Given the description of an element on the screen output the (x, y) to click on. 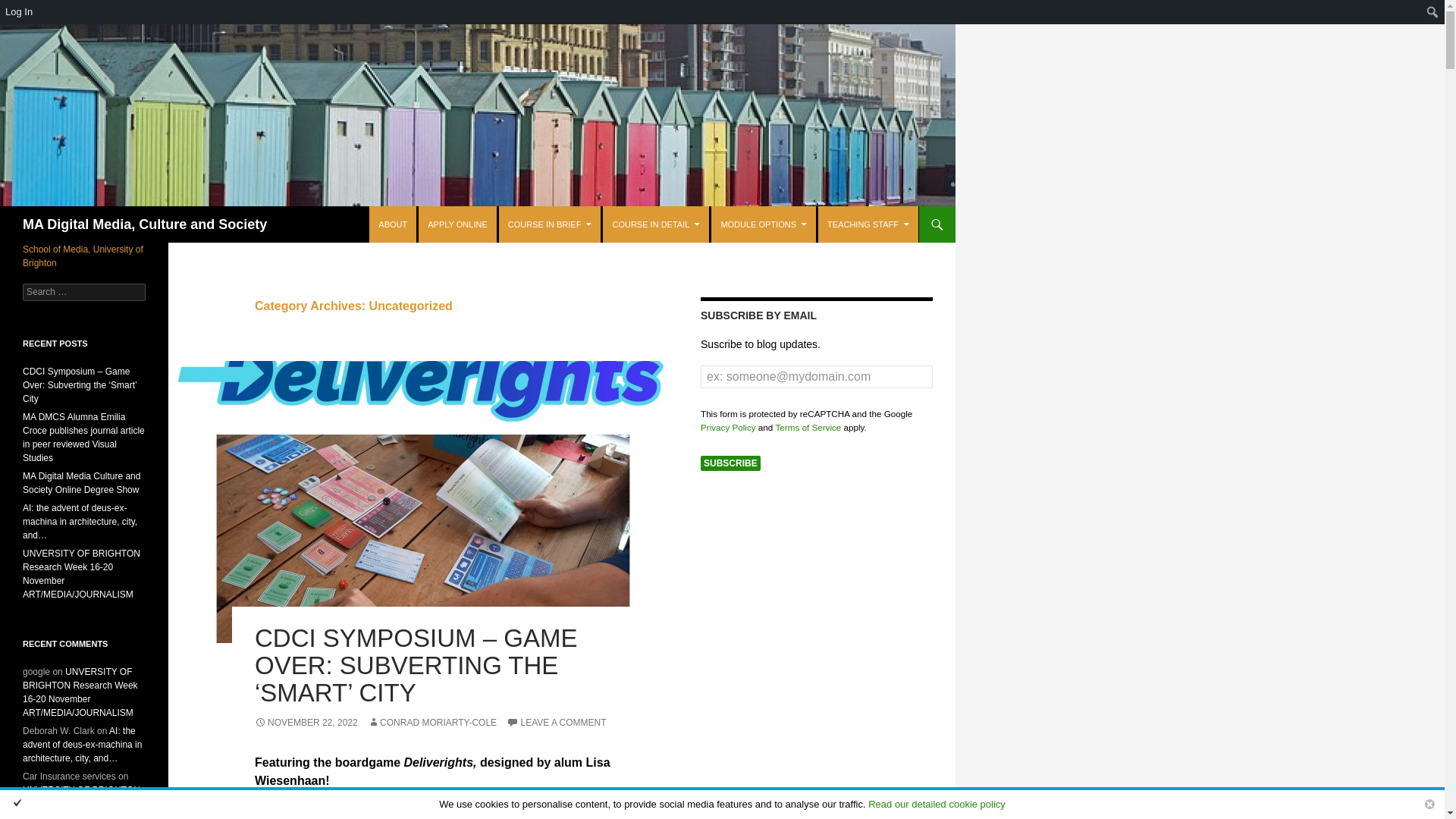
NOVEMBER 22, 2022 (306, 722)
LEAVE A COMMENT (555, 722)
APPLY ONLINE (457, 224)
Subscribe (730, 462)
MA Digital Media, Culture and Society (144, 224)
Search (11, 12)
COURSE IN BRIEF (550, 224)
ABOUT (392, 224)
CONRAD MORIARTY-COLE (432, 722)
MODULE OPTIONS (763, 224)
Log In (34, 12)
TEACHING STAFF (868, 224)
COURSE IN DETAIL (655, 224)
